Given the description of an element on the screen output the (x, y) to click on. 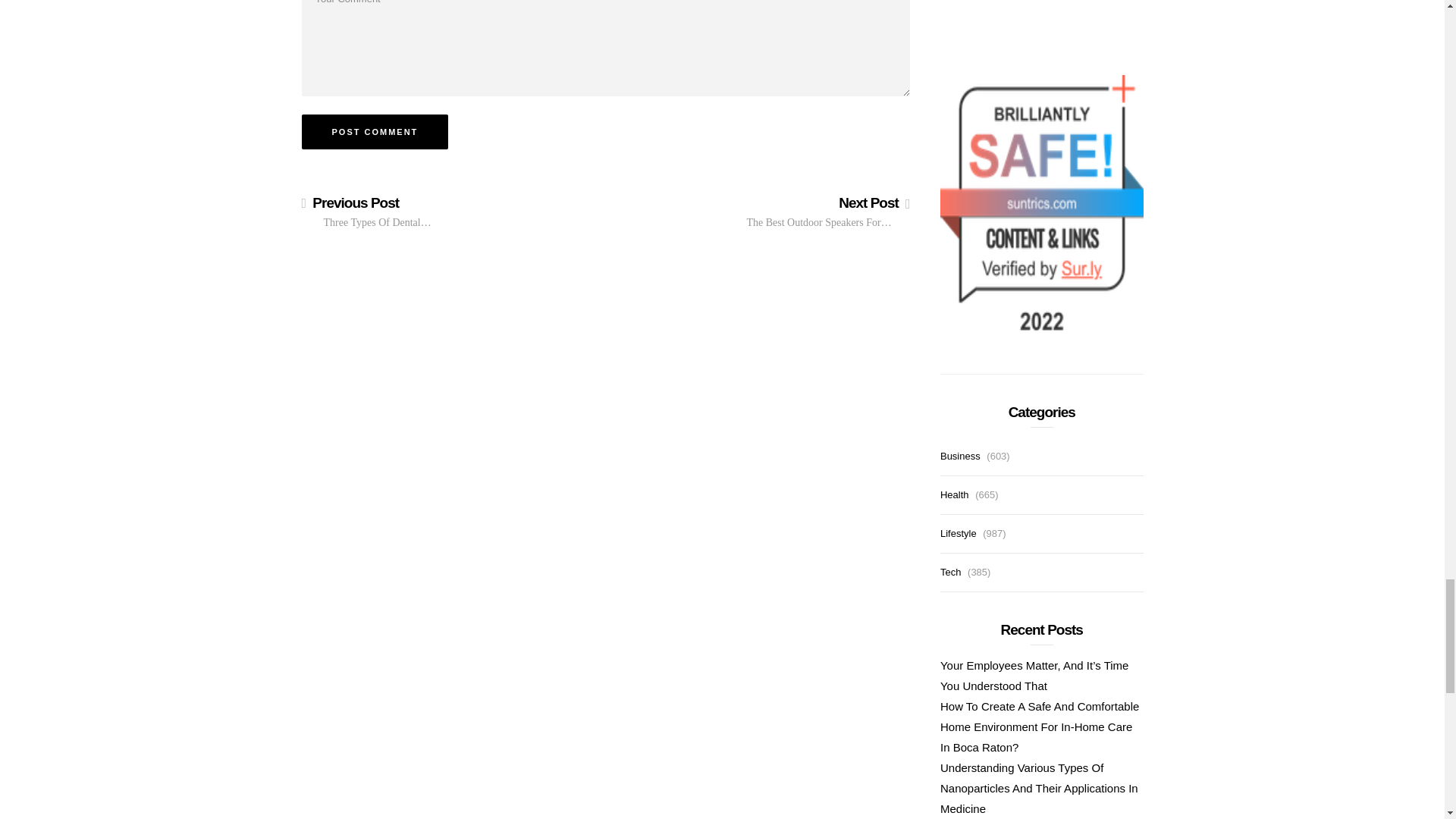
Post Comment (374, 131)
